Given the description of an element on the screen output the (x, y) to click on. 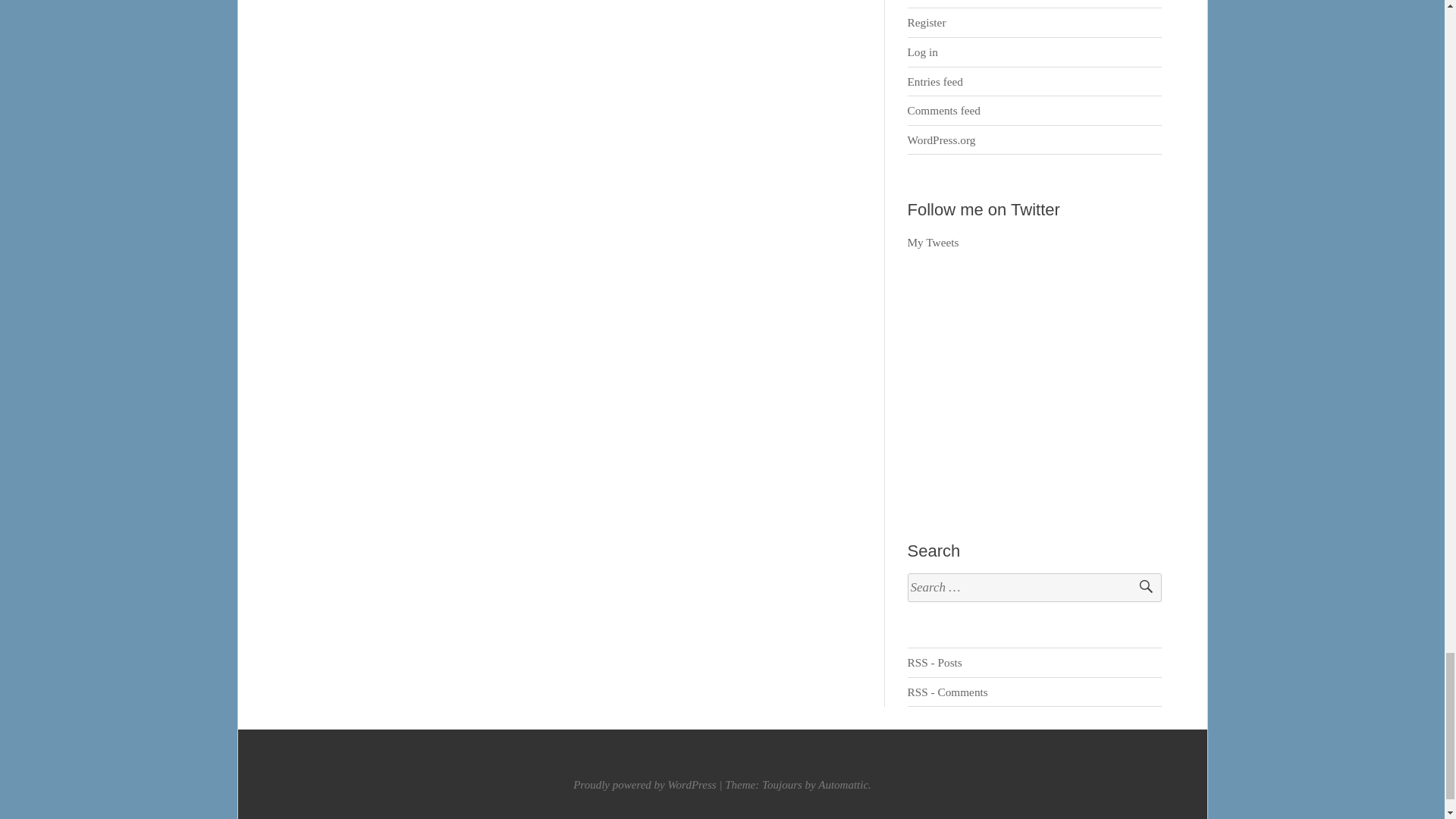
Search (1138, 587)
Subscribe to posts (934, 662)
Subscribe to comments (947, 691)
Search (1138, 587)
